Given the description of an element on the screen output the (x, y) to click on. 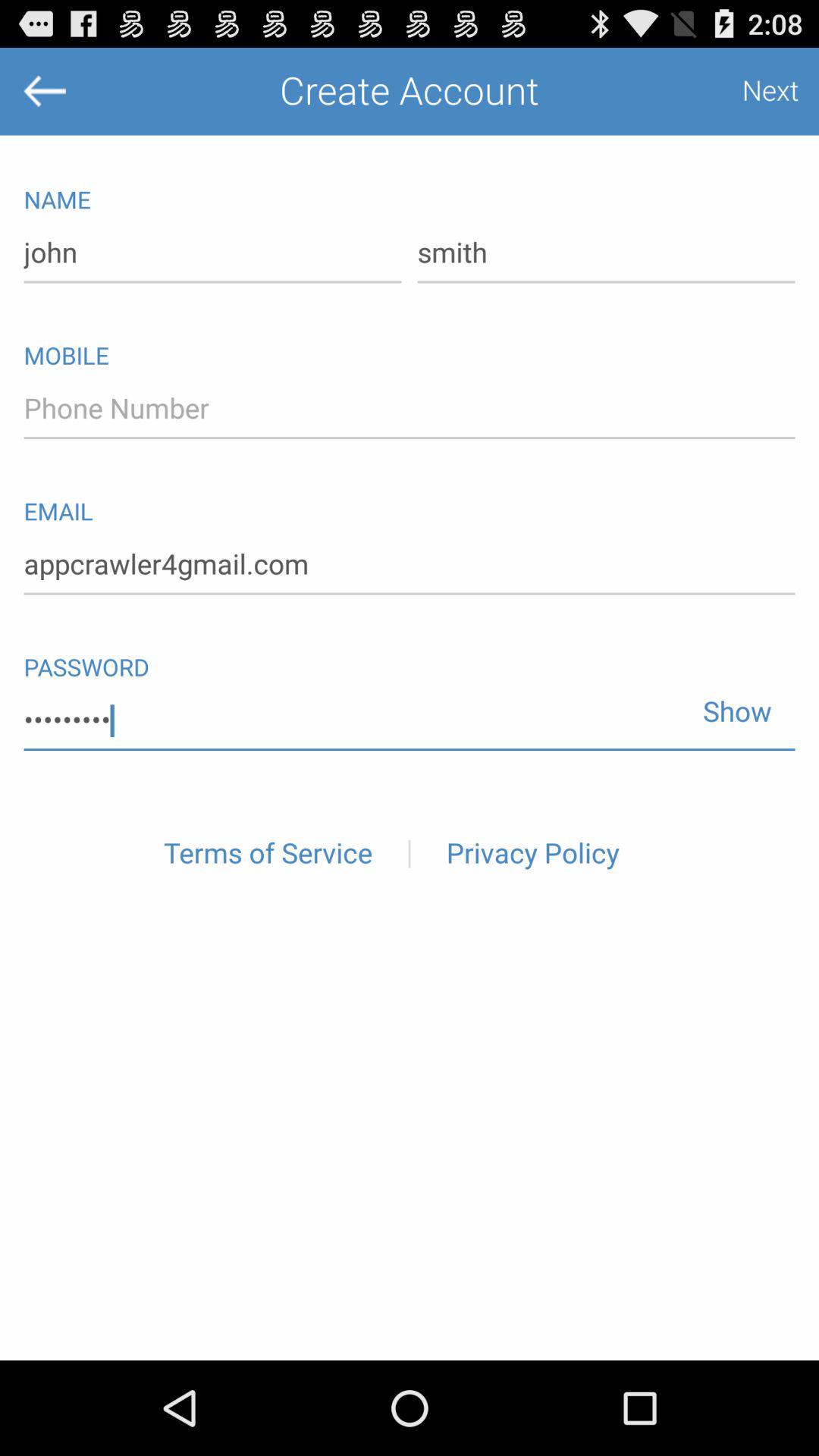
enter phone number (409, 409)
